Given the description of an element on the screen output the (x, y) to click on. 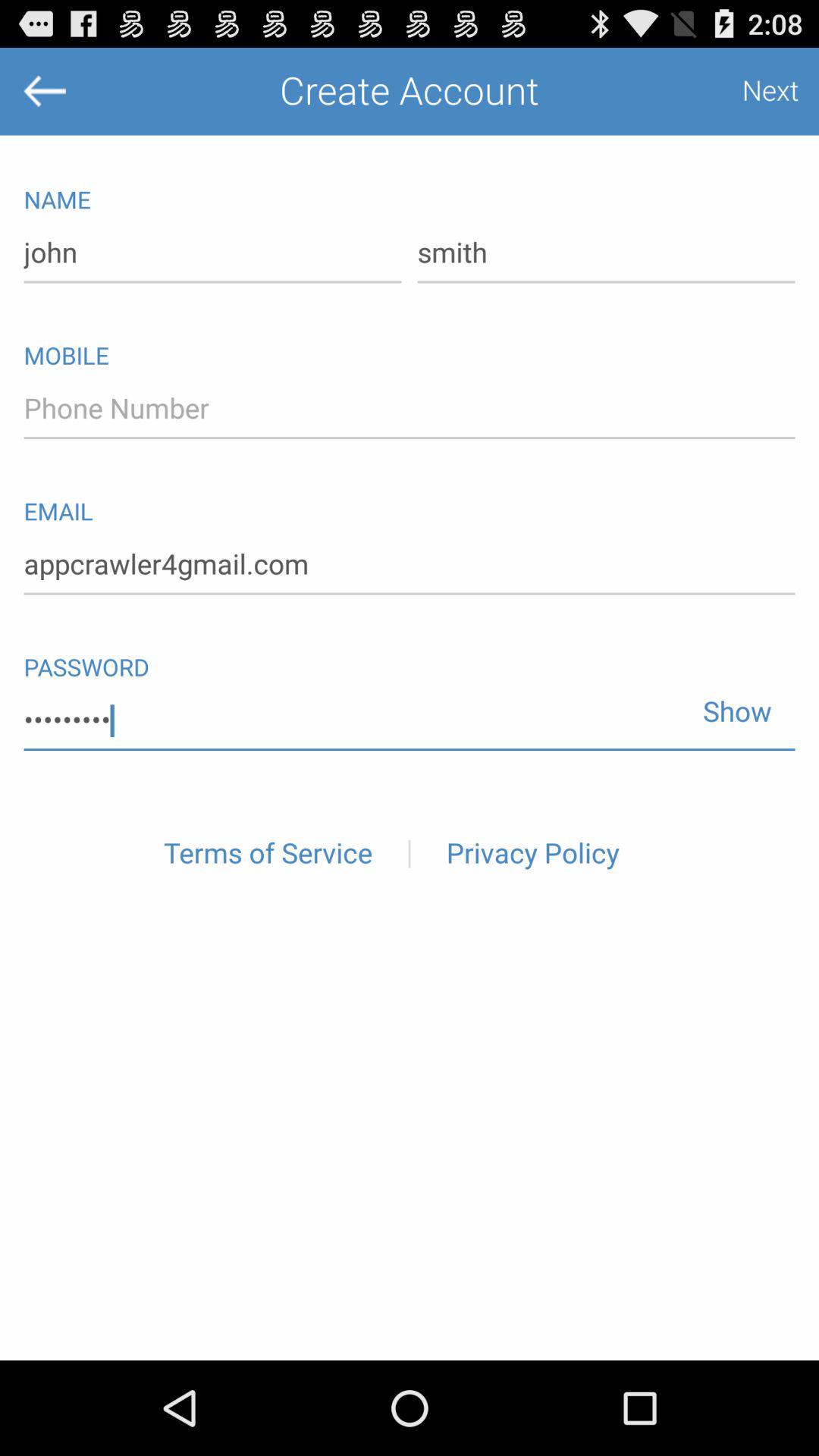
enter phone number (409, 409)
